Given the description of an element on the screen output the (x, y) to click on. 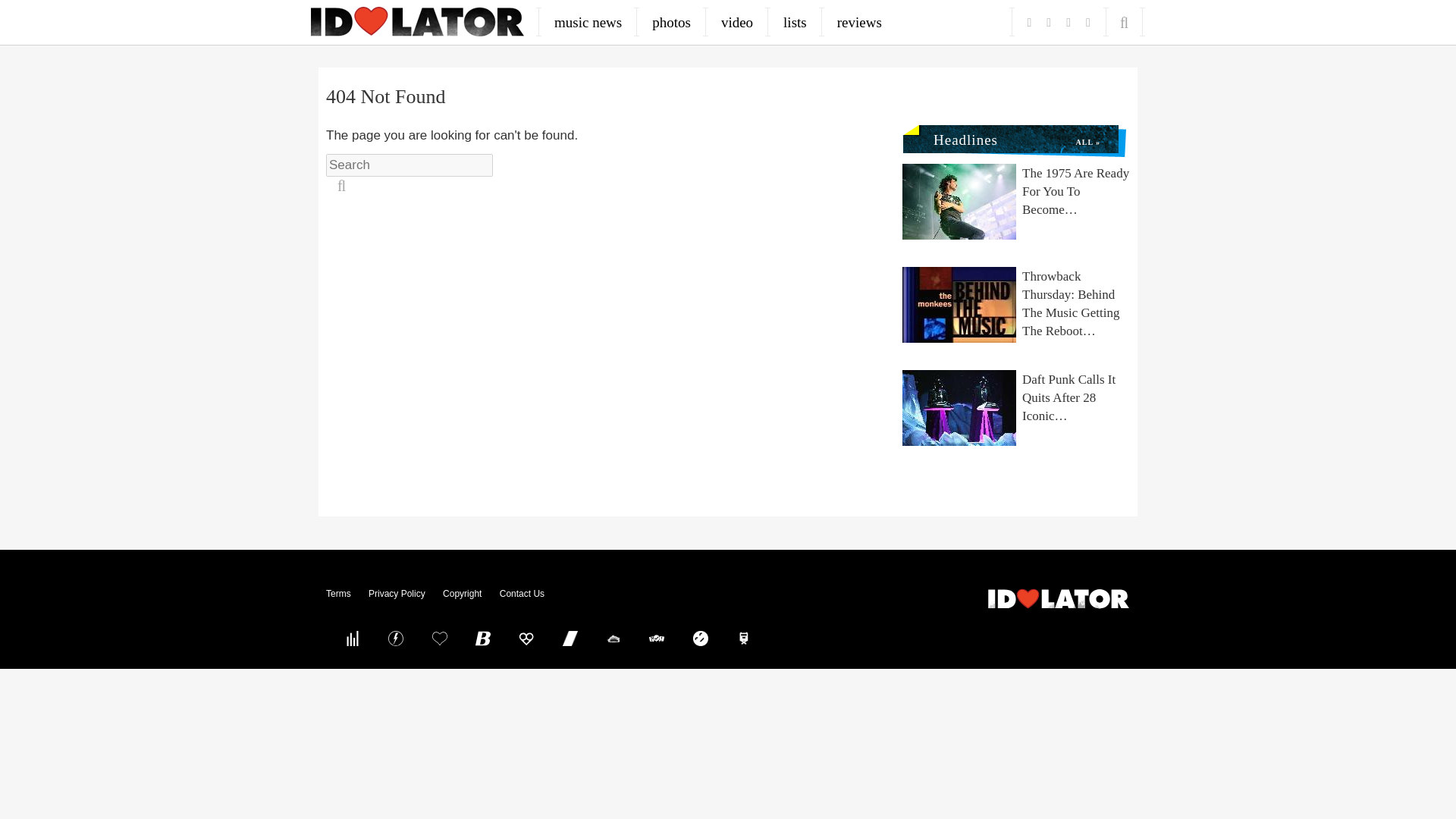
Headlines (958, 136)
Pure Volume (351, 638)
Contact Us (521, 593)
reviews (859, 22)
photos (671, 22)
BleacherBreaker (483, 638)
Copyright (461, 593)
lists (795, 22)
video (737, 22)
Buzznet (395, 638)
